Given the description of an element on the screen output the (x, y) to click on. 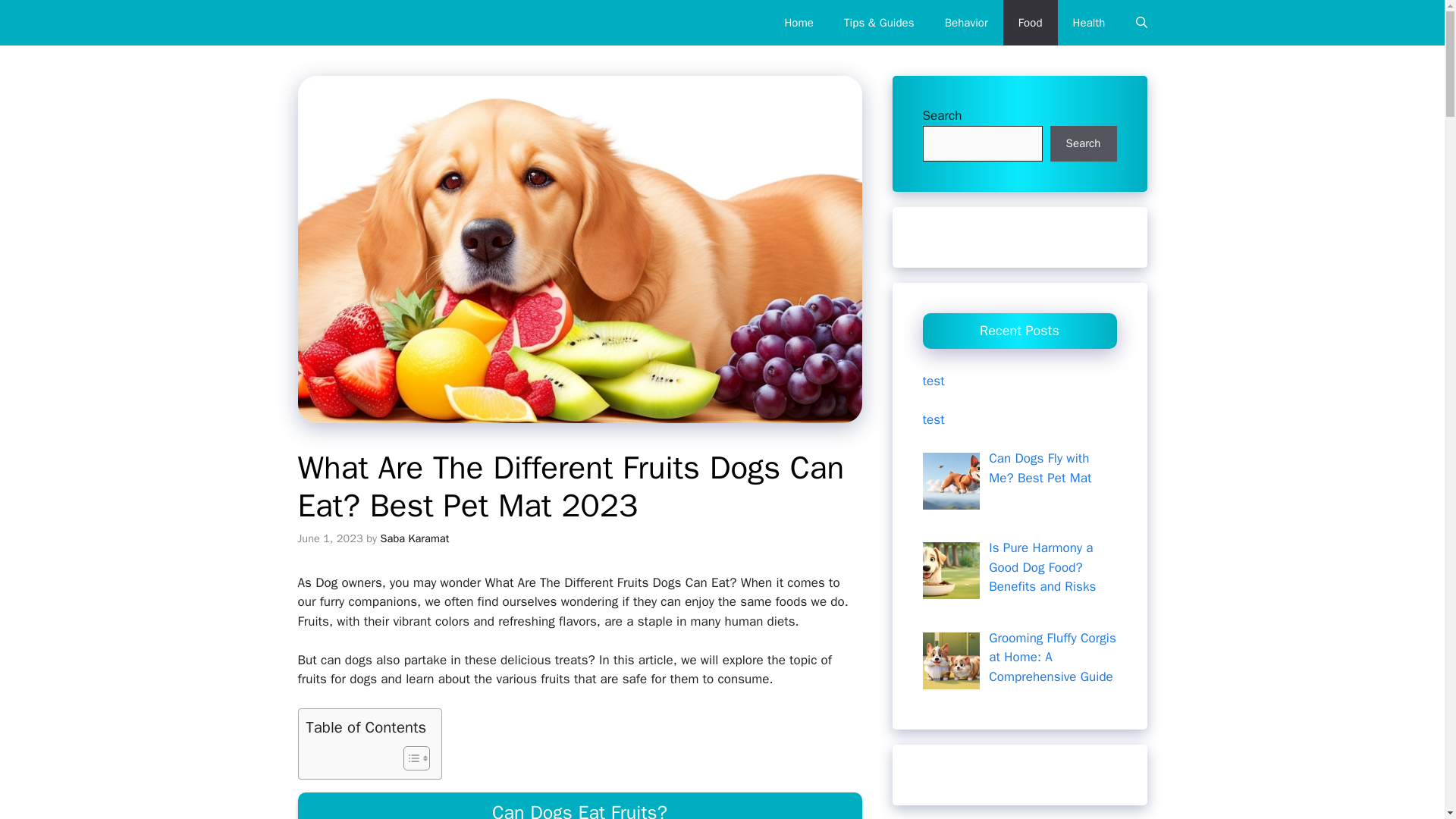
Food (1030, 22)
Home (798, 22)
Behavior (966, 22)
View all posts by Saba Karamat (414, 538)
Saba Karamat (414, 538)
Health (1089, 22)
